Given the description of an element on the screen output the (x, y) to click on. 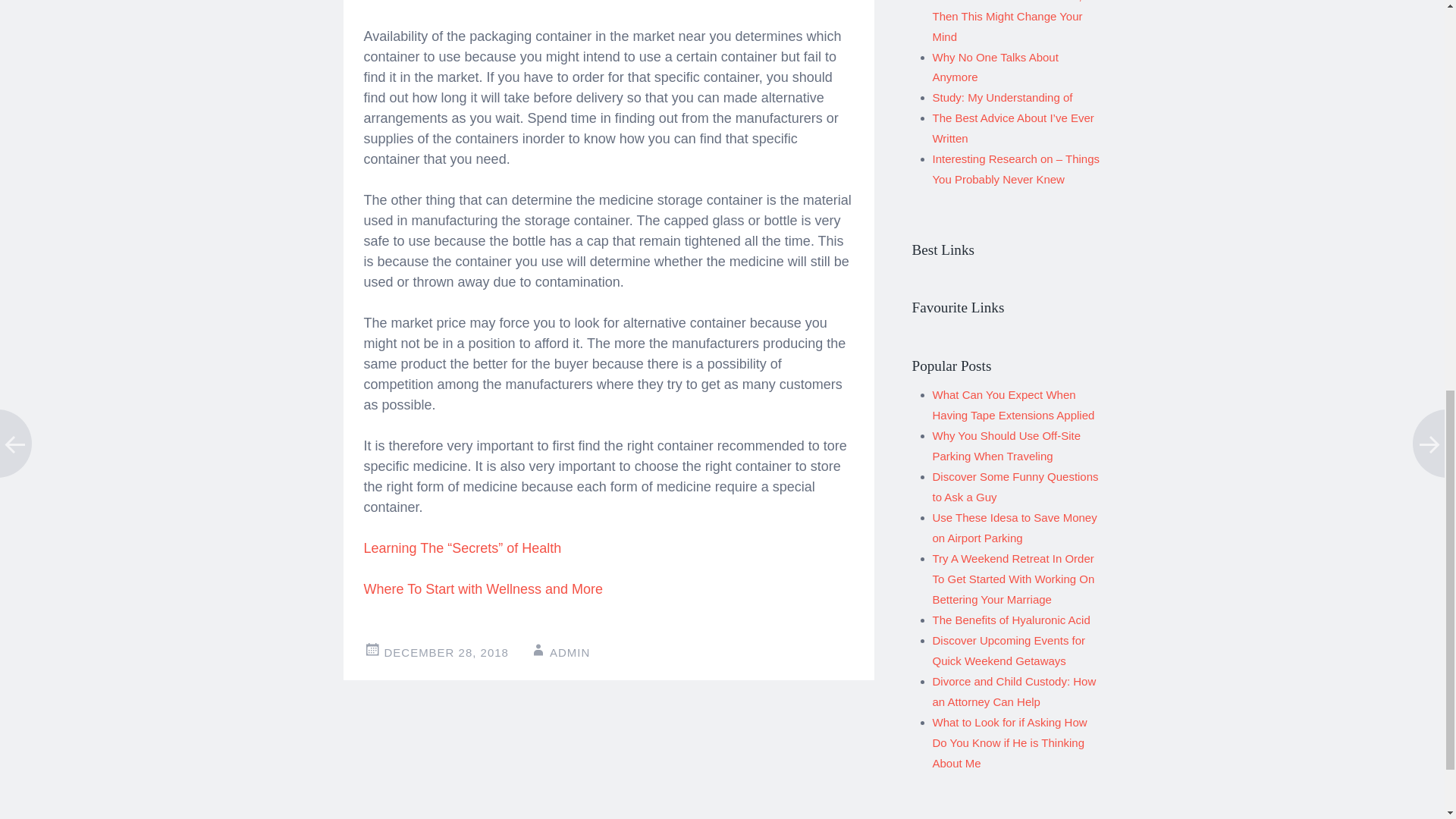
Divorce and Child Custody: How an Attorney Can Help (1014, 691)
View all posts by admin (569, 652)
Why No One Talks About Anymore (995, 66)
Use These Idesa to Save Money on Airport Parking (1015, 527)
Study: My Understanding of (1003, 97)
ADMIN (569, 652)
Discover Some Funny Questions to Ask a Guy (1016, 486)
Where To Start with Wellness and More (483, 589)
Discover Upcoming Events for Quick Weekend Getaways (1009, 650)
Why You Should Use Off-Site Parking When Traveling (1006, 445)
The Benefits of Hyaluronic Acid (1011, 619)
What Can You Expect When Having Tape Extensions Applied (1013, 404)
DECEMBER 28, 2018 (446, 652)
4:39 am (446, 652)
